Given the description of an element on the screen output the (x, y) to click on. 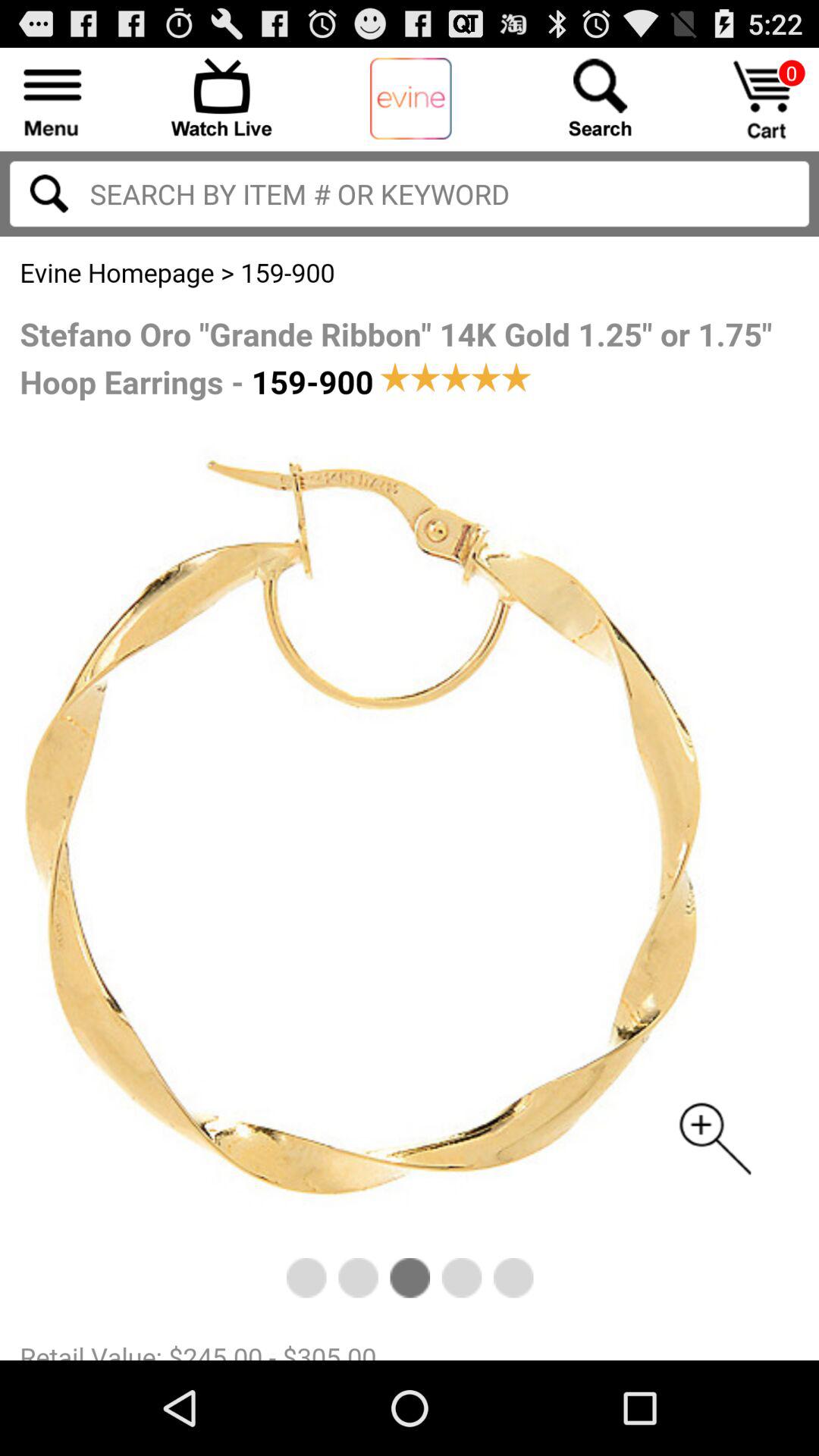
go to menu bar (52, 97)
